Given the description of an element on the screen output the (x, y) to click on. 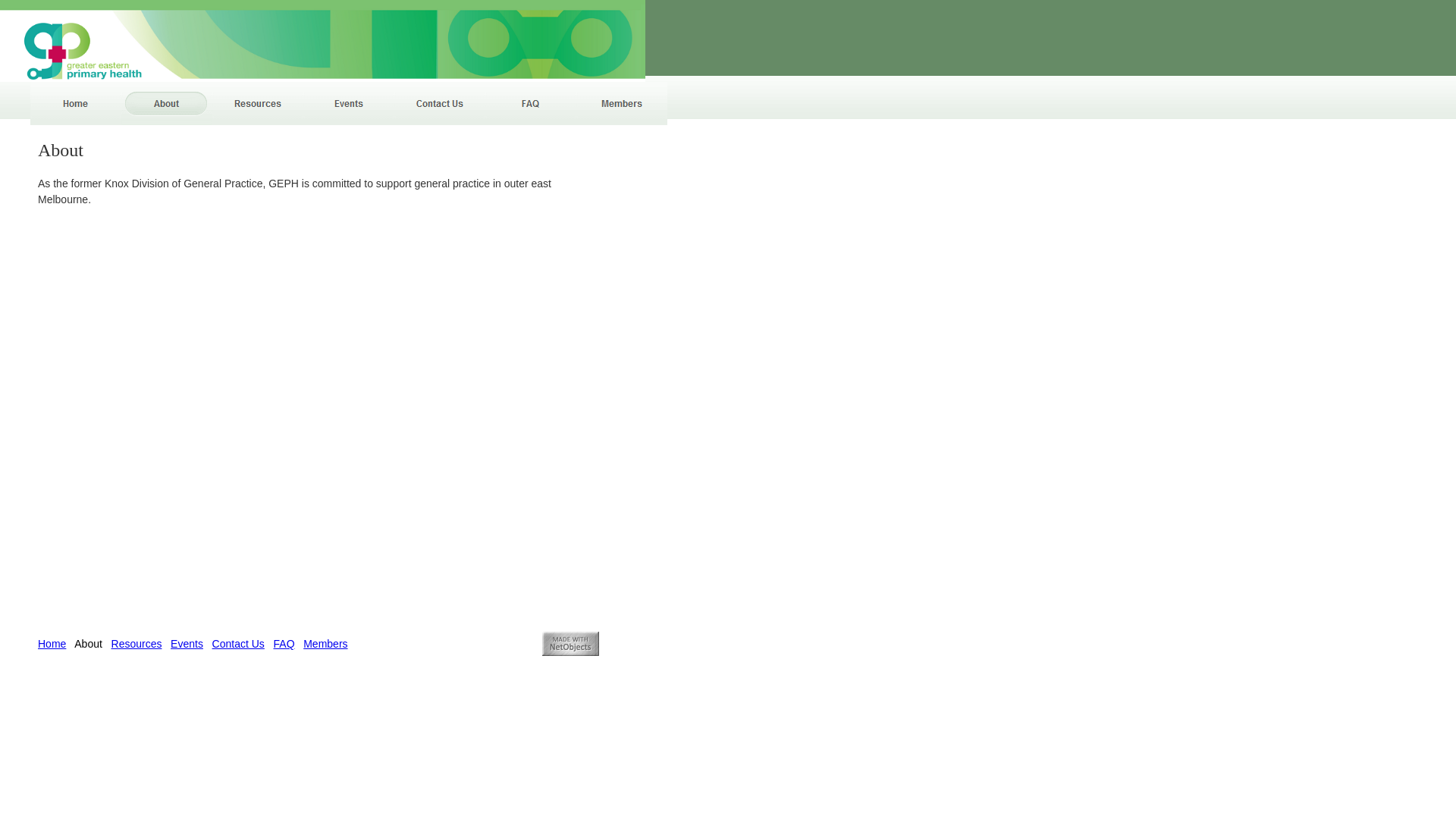
Members Element type: text (325, 643)
gephbanner Element type: hover (322, 40)
Resources Element type: text (136, 643)
Home Element type: hover (75, 103)
Members Element type: hover (621, 103)
Events Element type: text (186, 643)
website design software Element type: hover (570, 643)
Home Element type: text (51, 643)
FAQ Element type: text (283, 643)
Contact Us Element type: text (238, 643)
Events Element type: hover (348, 103)
Resources Element type: hover (257, 103)
About Element type: hover (166, 103)
Contact Us Element type: hover (439, 103)
FAQ Element type: hover (530, 103)
